Given the description of an element on the screen output the (x, y) to click on. 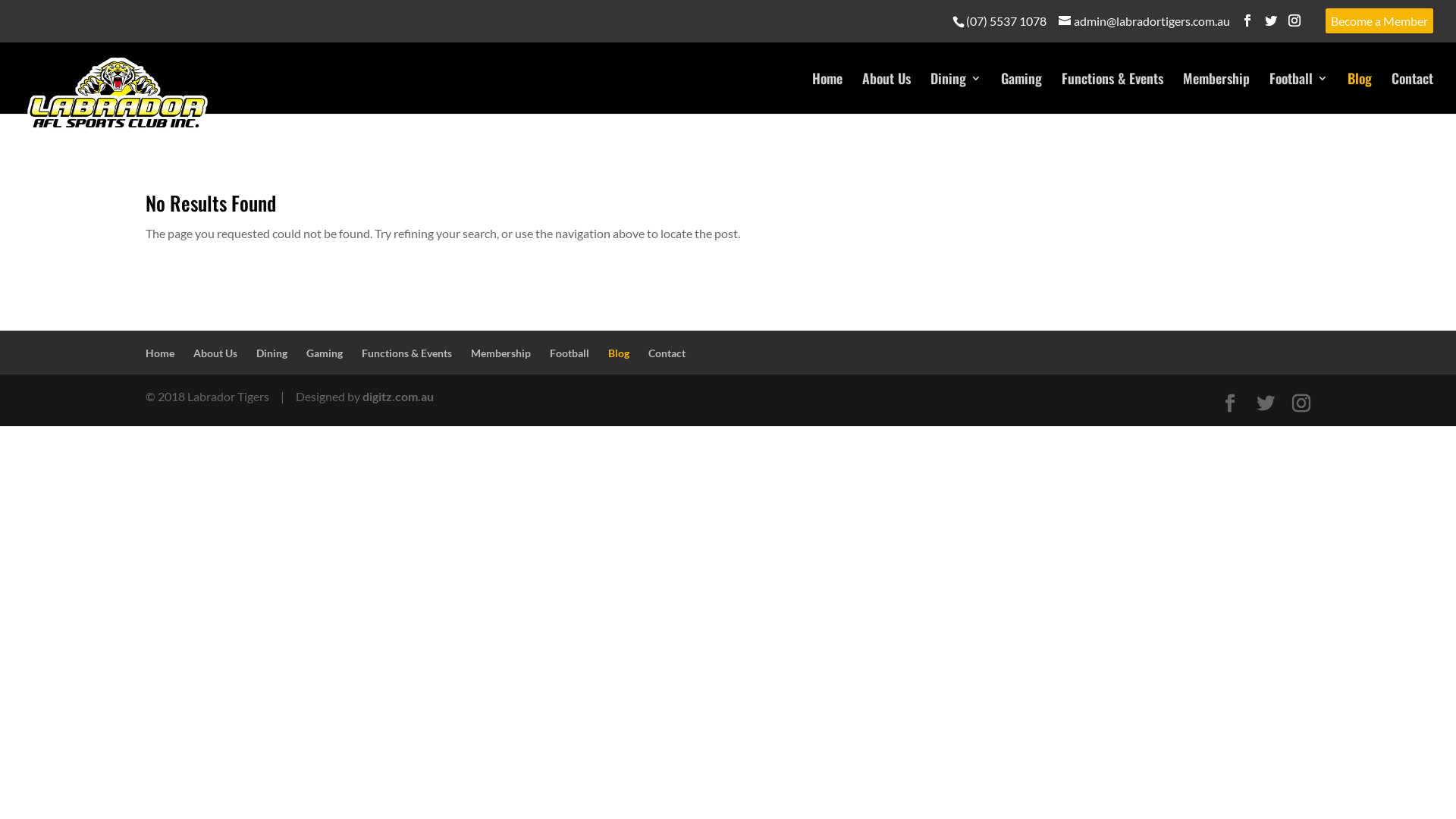
Functions & Events Element type: text (1112, 92)
Membership Element type: text (500, 352)
Football Element type: text (1298, 92)
Blog Element type: text (1359, 92)
Become a Member Element type: text (1379, 20)
Membership Element type: text (1216, 92)
admin@labradortigers.com.au Element type: text (1144, 20)
Home Element type: text (159, 352)
Home Element type: text (827, 92)
Football Element type: text (569, 352)
Gaming Element type: text (324, 352)
About Us Element type: text (886, 92)
Contact Element type: text (1412, 92)
Functions & Events Element type: text (406, 352)
Contact Element type: text (666, 352)
digitz.com.au Element type: text (397, 396)
Gaming Element type: text (1021, 92)
Dining Element type: text (955, 92)
Blog Element type: text (618, 352)
Dining Element type: text (271, 352)
About Us Element type: text (215, 352)
